Given the description of an element on the screen output the (x, y) to click on. 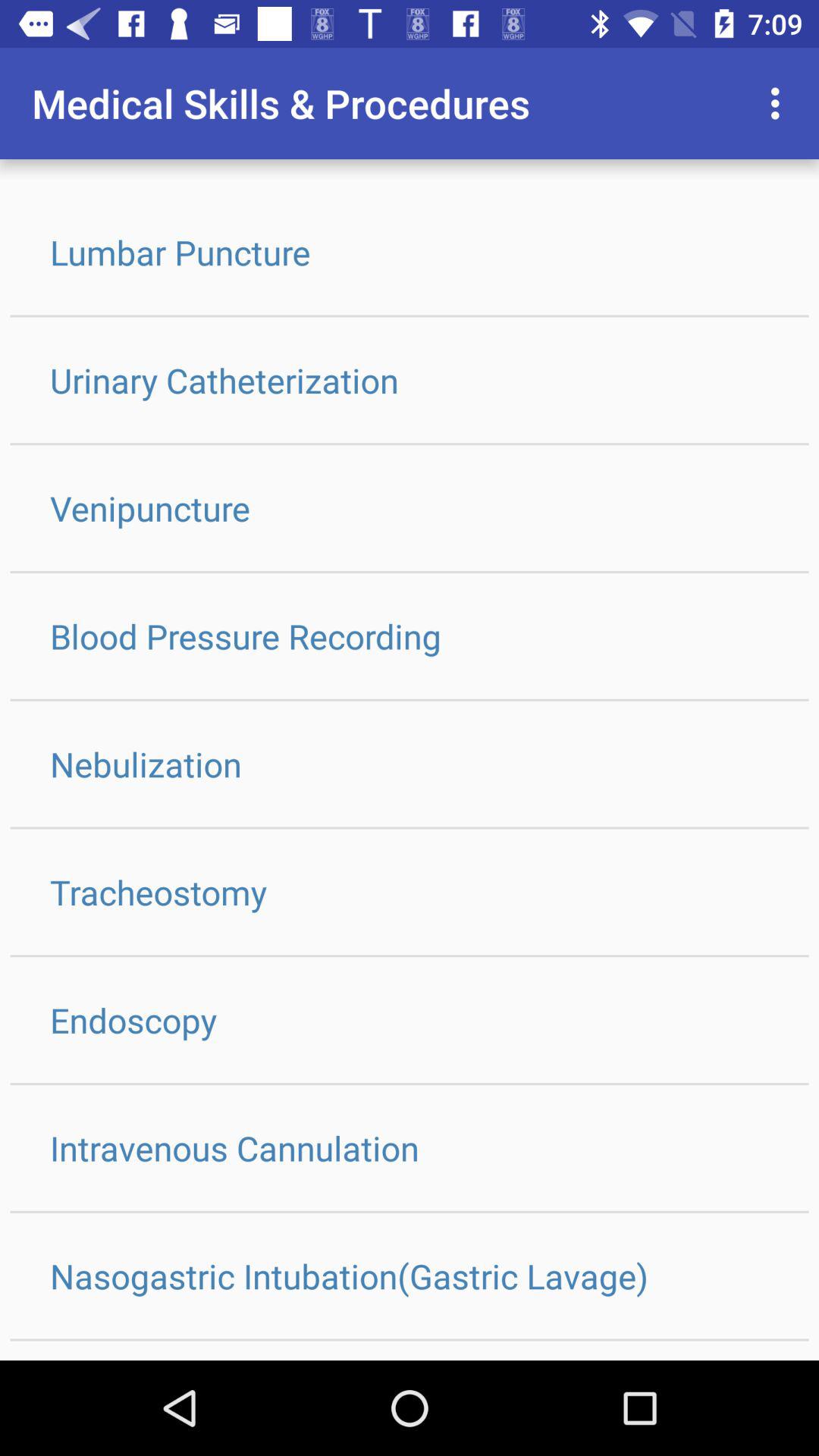
click nebulization icon (409, 763)
